Given the description of an element on the screen output the (x, y) to click on. 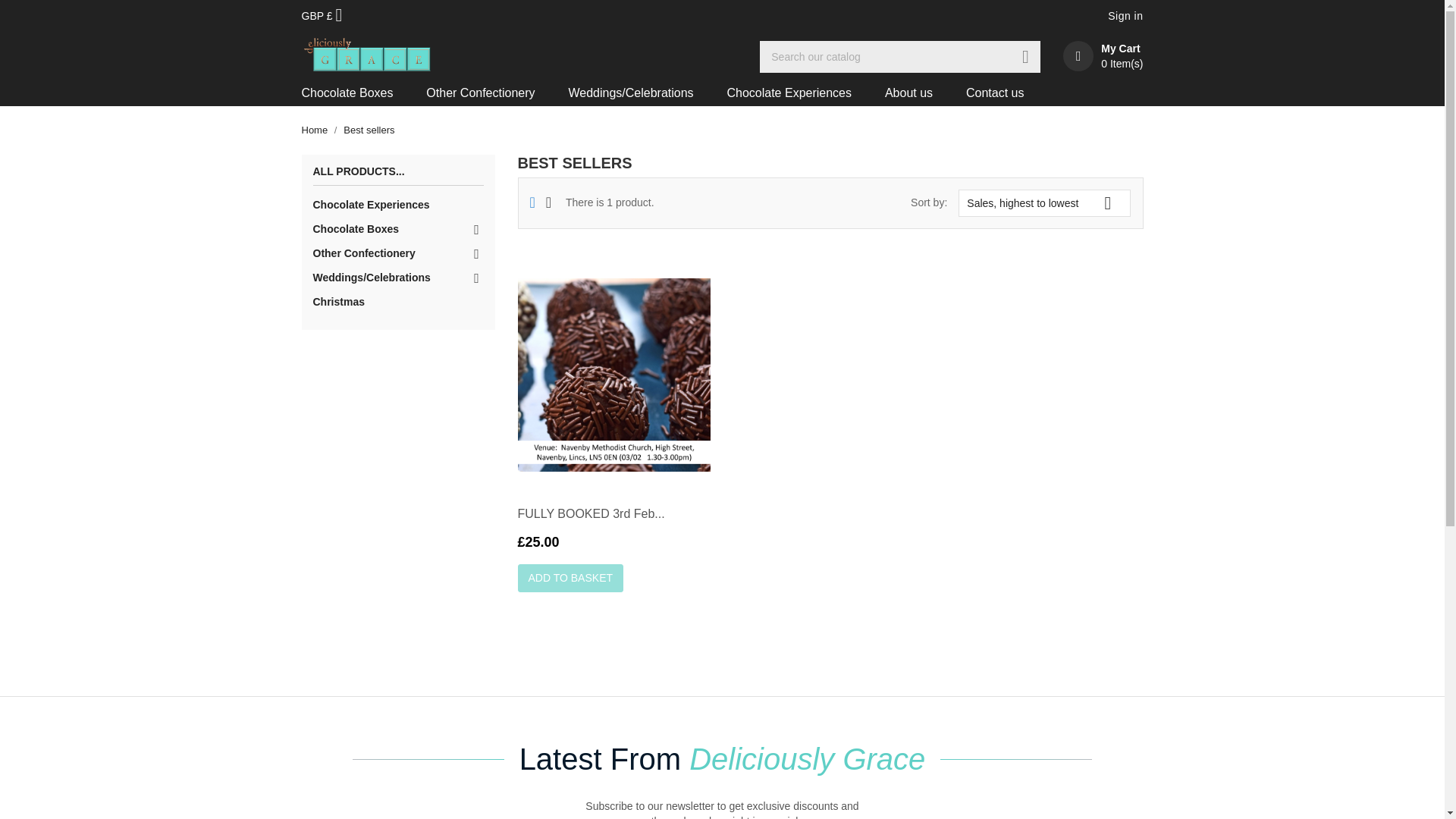
About us (908, 93)
Home (315, 129)
Log in to your customer account (1125, 16)
Contact us (994, 93)
Chocolate Boxes (398, 229)
Chocolate Boxes (355, 93)
ALL PRODUCTS... (398, 175)
Best sellers (368, 129)
Chocolate Experiences (788, 93)
Sign in (1125, 16)
Chocolate Experiences (398, 205)
Other Confectionery (480, 93)
